Given the description of an element on the screen output the (x, y) to click on. 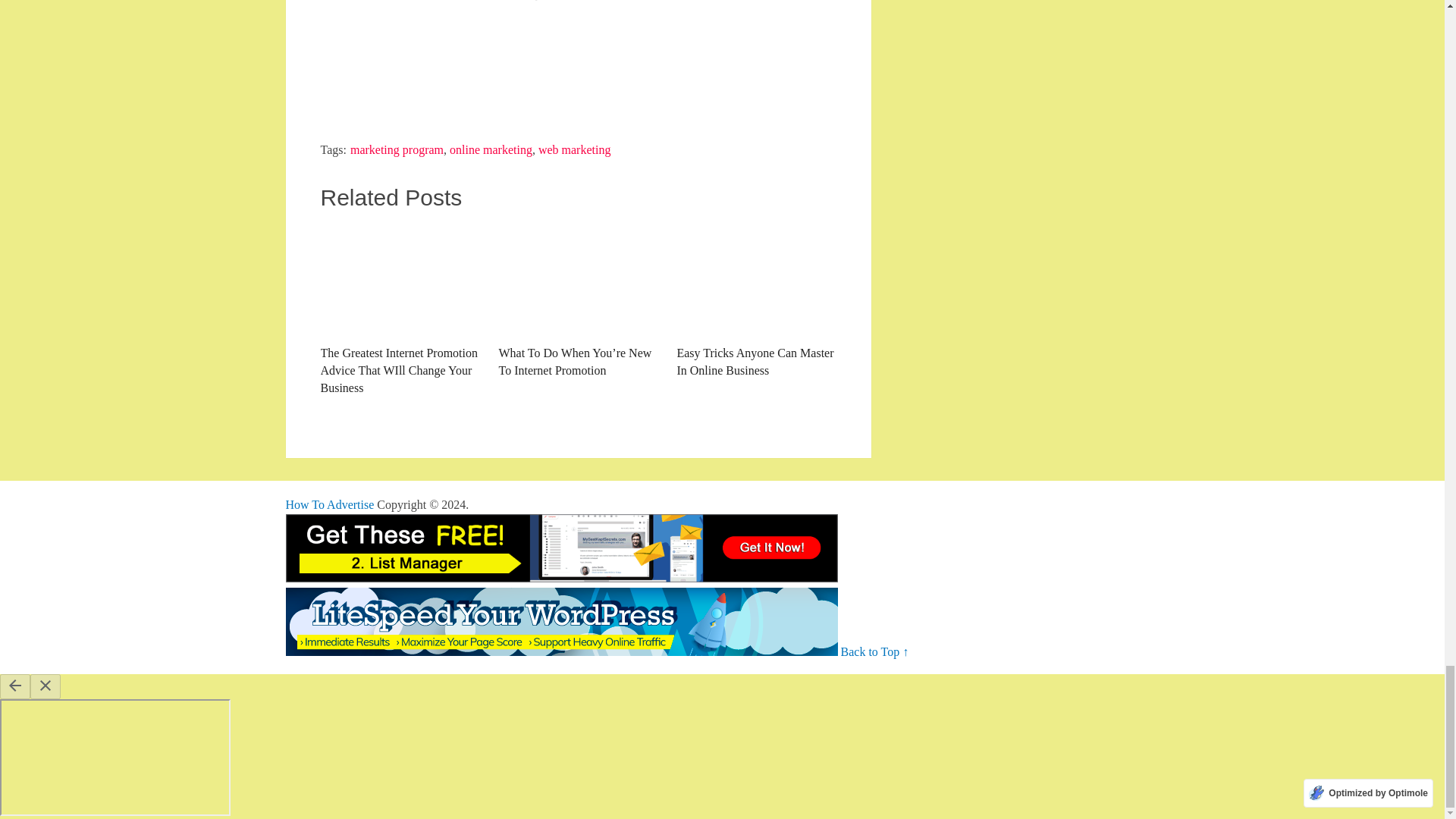
marketing program (397, 149)
online marketing (490, 149)
How To Advertise (329, 504)
Easy Tricks Anyone Can Master In Online Business (756, 300)
web marketing (574, 149)
